Given the description of an element on the screen output the (x, y) to click on. 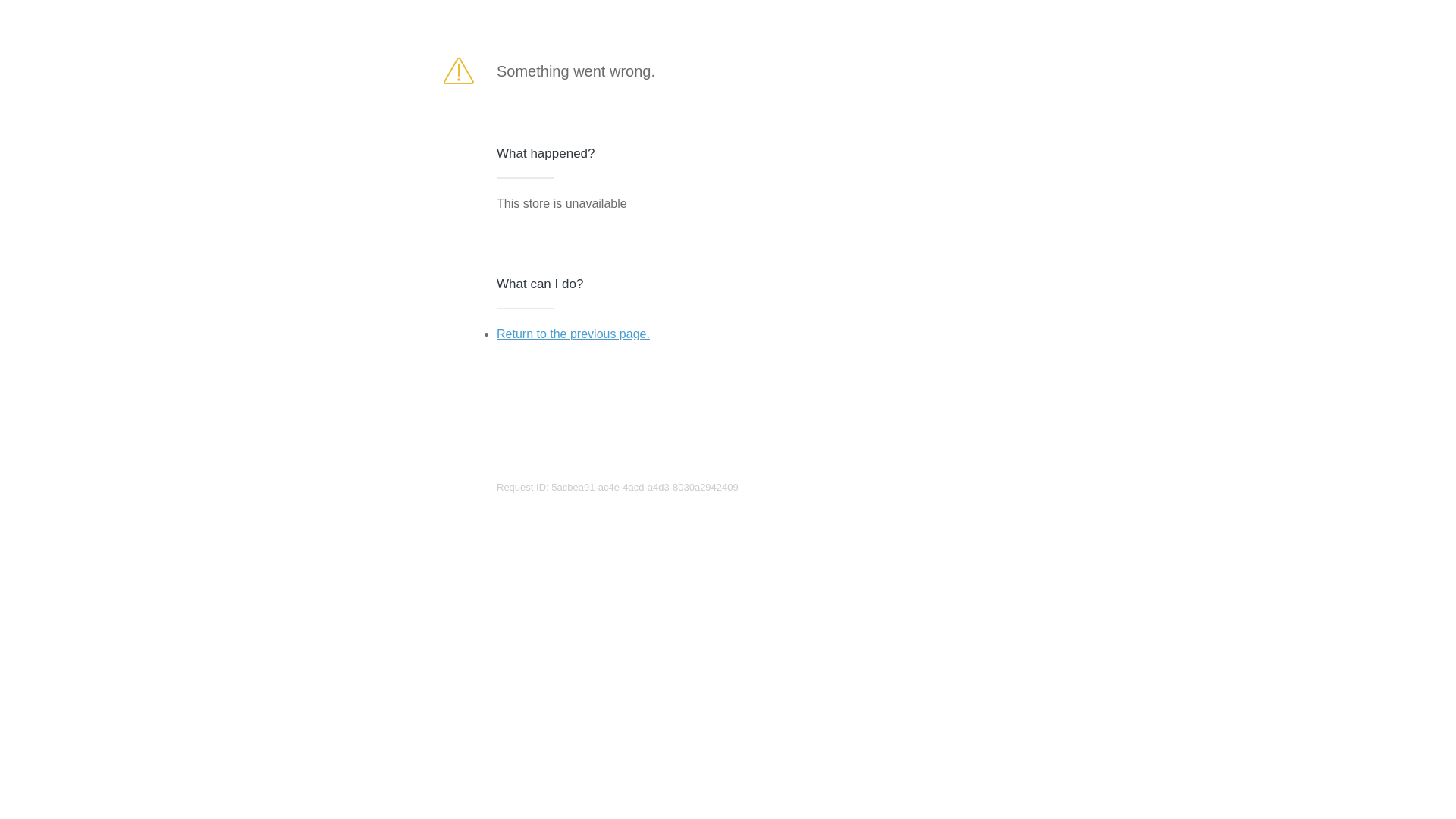
Return to the previous page. Element type: text (572, 333)
